Given the description of an element on the screen output the (x, y) to click on. 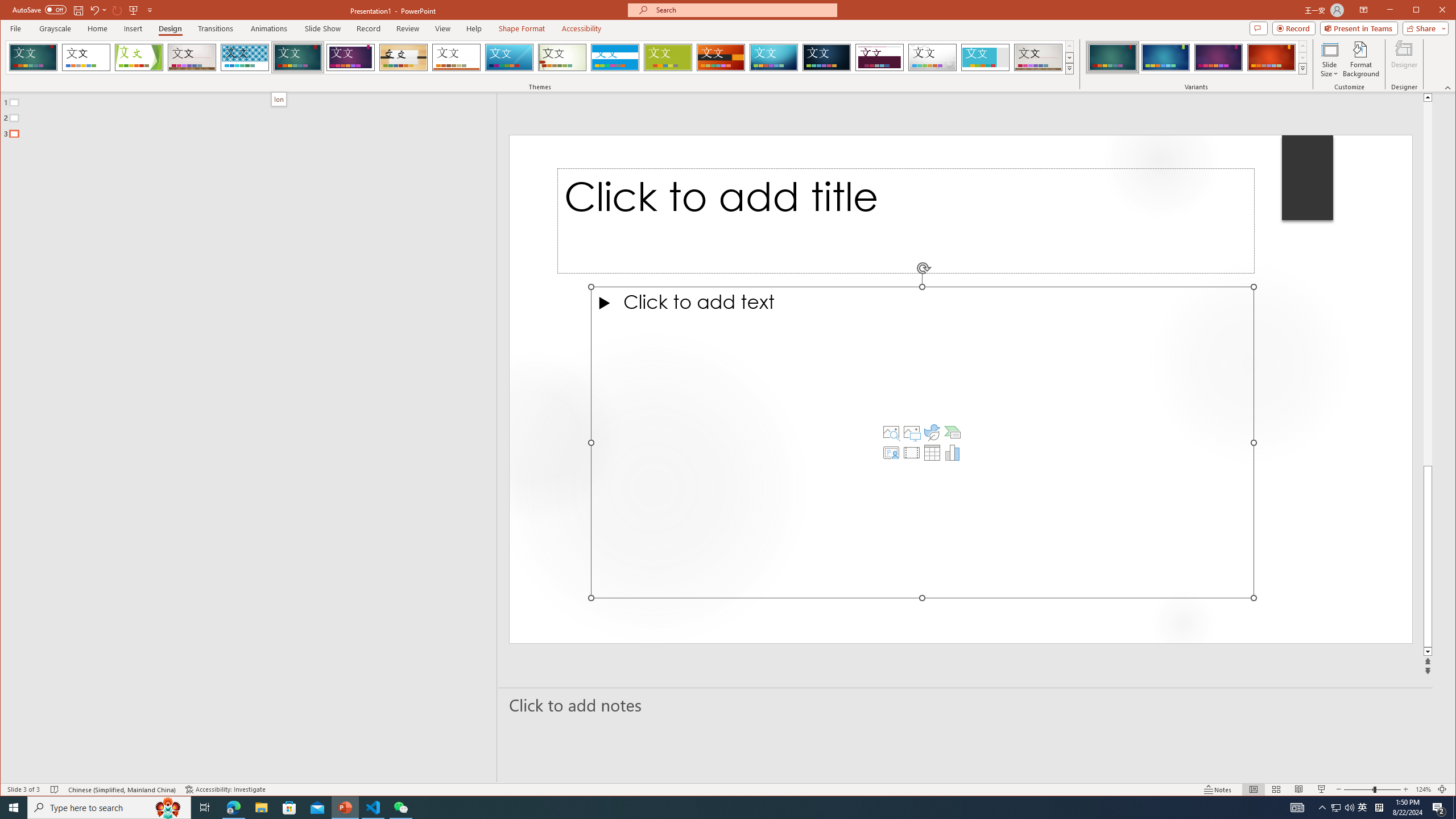
Zoom 124% (1422, 789)
Facet (138, 57)
Ion Boardroom (350, 57)
Variants (1302, 68)
